Given the description of an element on the screen output the (x, y) to click on. 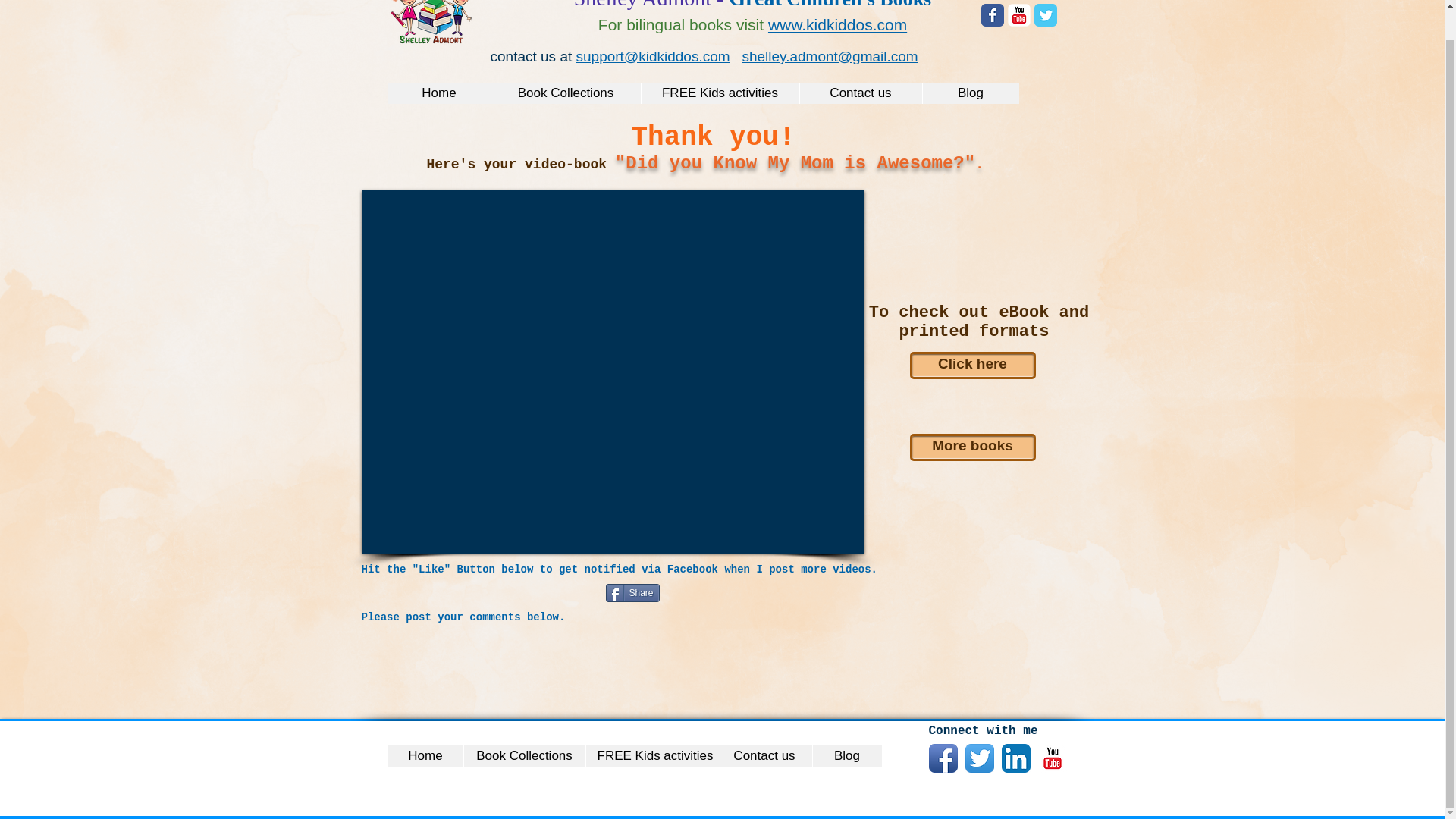
www.kidkiddos.com (837, 24)
Twitter Tweet (572, 594)
Book Collections (564, 93)
More books (972, 447)
Blog (845, 755)
Contact us (860, 93)
Blog (970, 93)
Facebook Like (455, 602)
Contact us (763, 755)
Share (632, 592)
Home (439, 93)
Great (754, 4)
Embedded Content (280, 33)
FREE Kids activities (718, 93)
Share (632, 592)
